Given the description of an element on the screen output the (x, y) to click on. 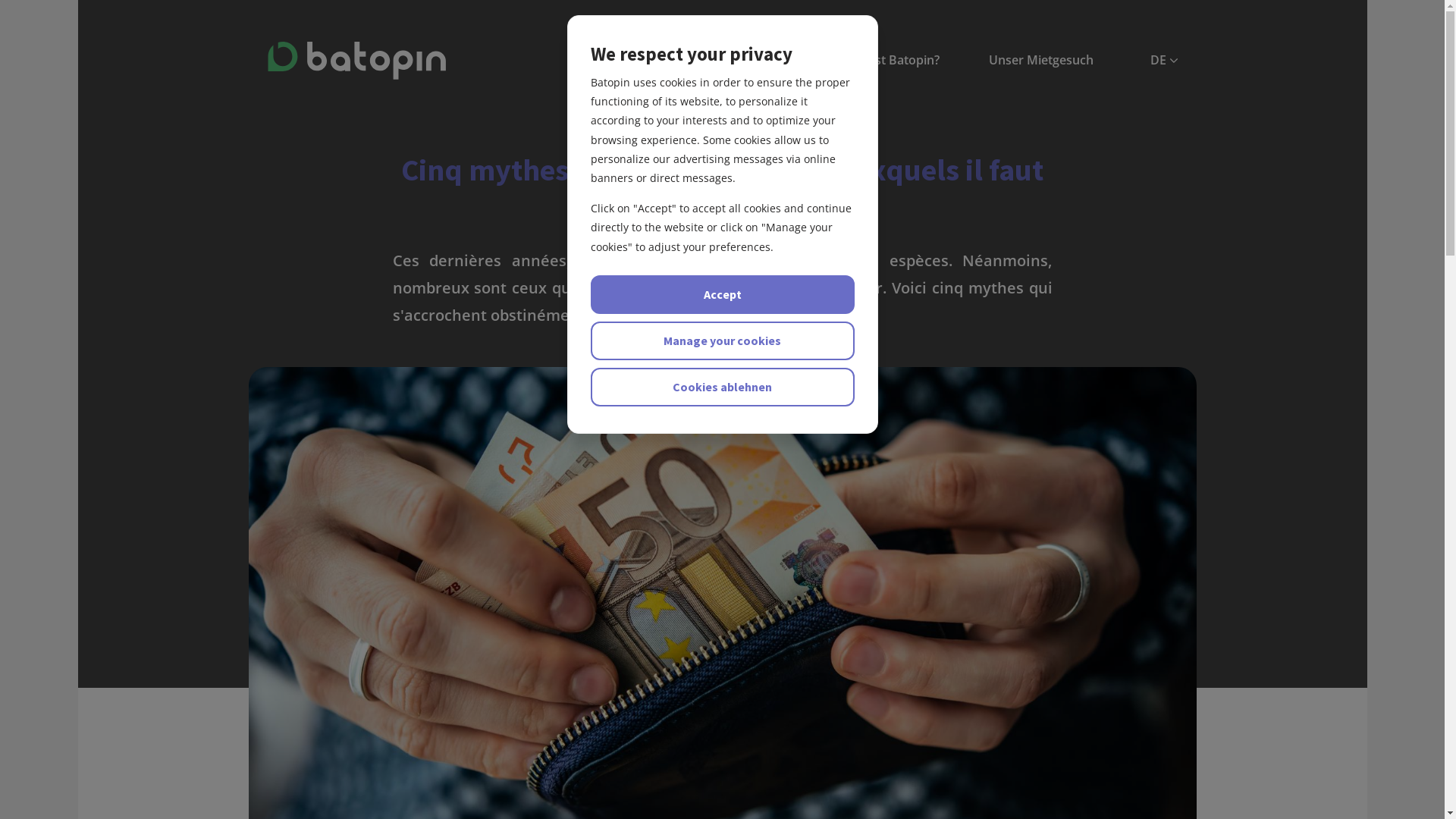
DE Element type: text (1162, 60)
Unser Mietgesuch Element type: text (1040, 60)
Accept Element type: text (721, 294)
Manage your cookies Element type: text (721, 340)
Was ist Batopin? Element type: text (891, 60)
News Element type: text (608, 60)
Unsere CASH-Punkte Element type: text (734, 60)
Cookies ablehnen Element type: text (721, 386)
Batopin logo Element type: hover (355, 60)
